Given the description of an element on the screen output the (x, y) to click on. 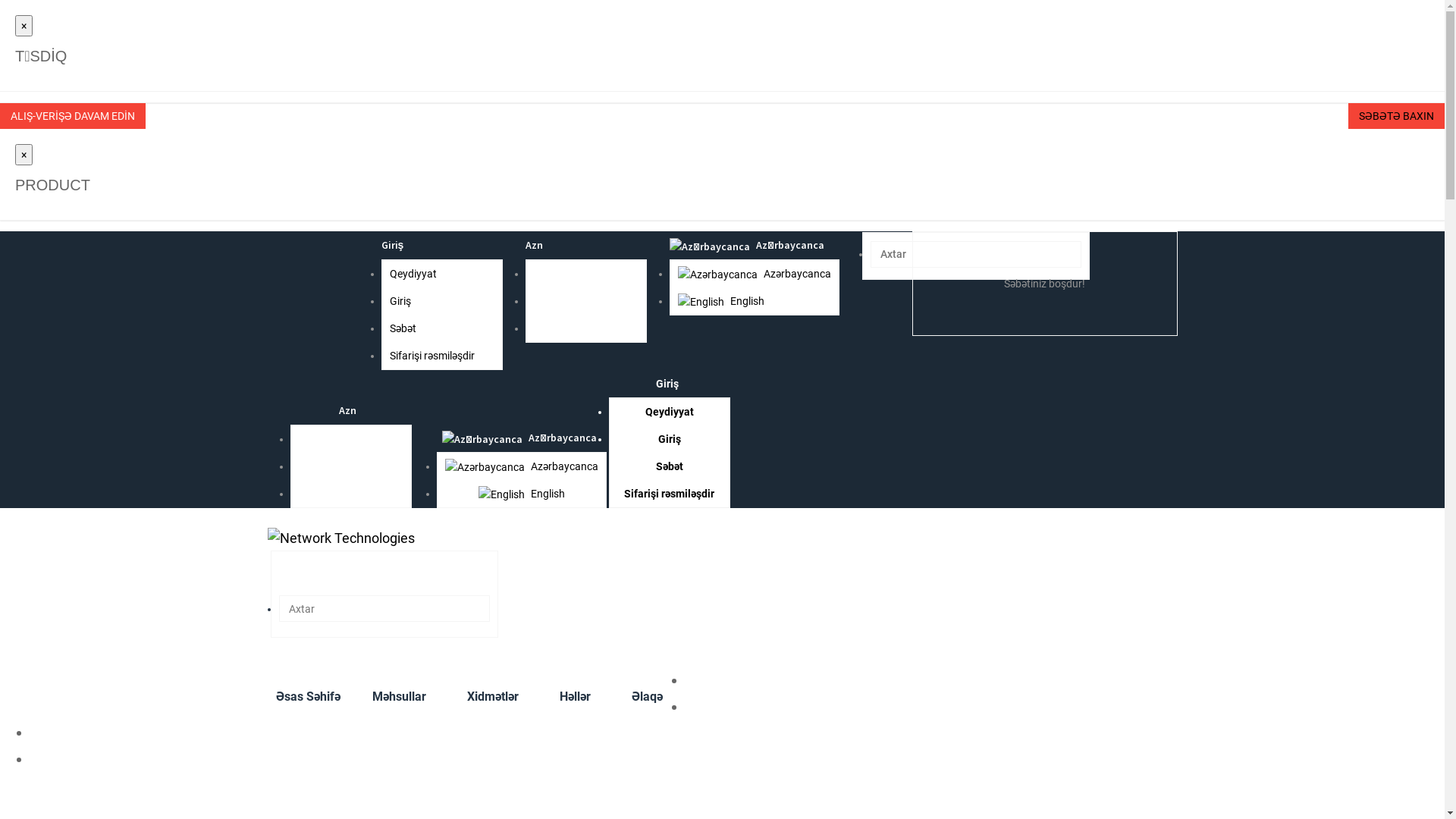
Azn Element type: text (350, 438)
Euro Element type: text (544, 300)
Qeydiyyat Element type: text (668, 411)
English Element type: hover (700, 301)
Azn Element type: text (542, 273)
English Element type: hover (500, 494)
Network Technologies Element type: hover (340, 538)
English Element type: text (520, 493)
Usd Element type: text (350, 493)
Usd Element type: text (542, 327)
Azn    Element type: text (536, 244)
Qeydiyyat Element type: text (413, 273)
English Element type: text (720, 300)
Azn    Element type: text (350, 410)
Euro Element type: text (350, 465)
